Given the description of an element on the screen output the (x, y) to click on. 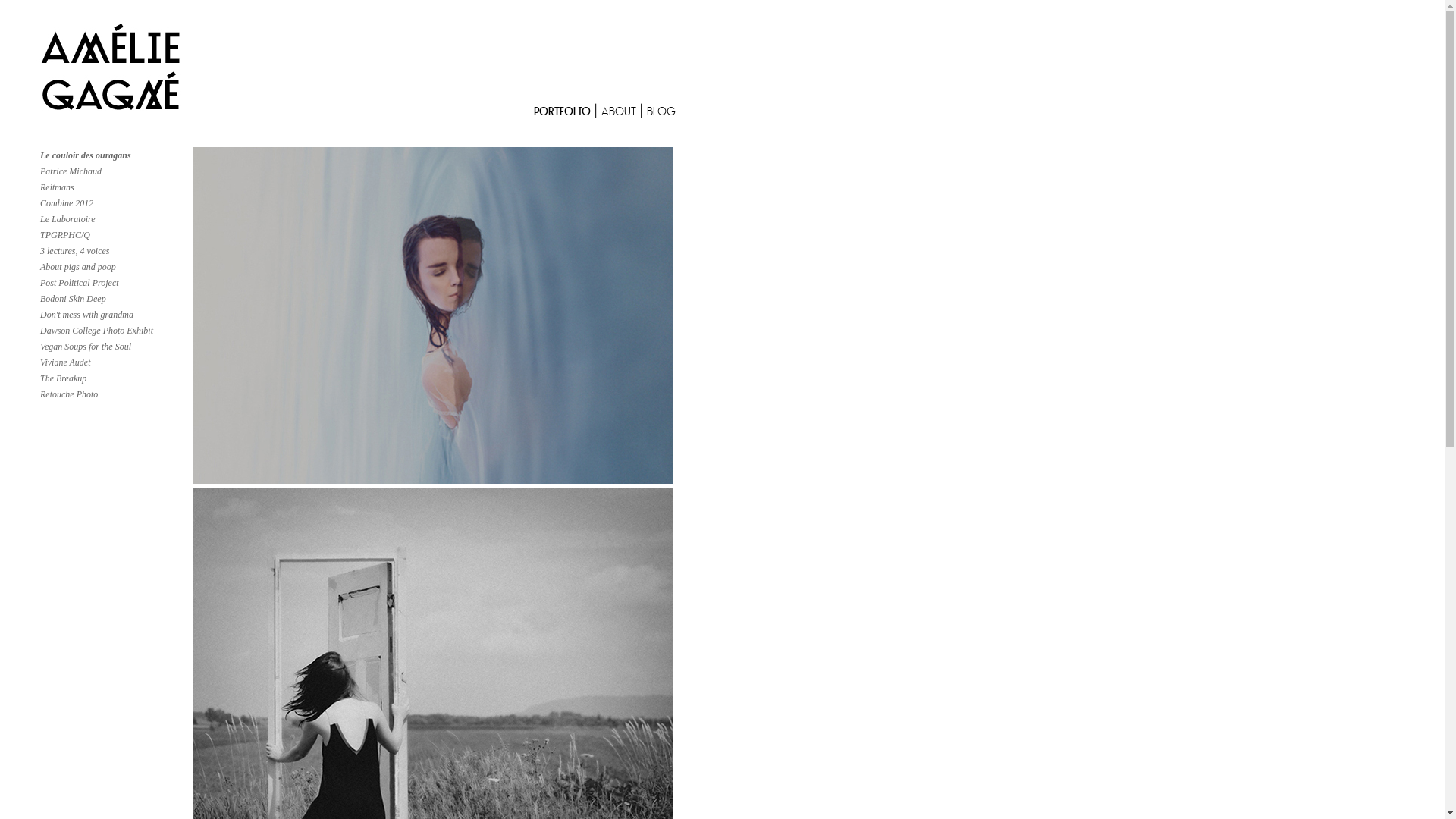
PORTFOLIO Element type: text (563, 112)
Viviane Audet Element type: text (65, 362)
3 lectures, 4 voices Element type: text (74, 250)
Bodoni Skin Deep Element type: text (73, 298)
Vegan Soups for the Soul Element type: text (85, 346)
Dawson College Photo Exhibit Element type: text (96, 330)
Le couloir des ouragans Element type: text (85, 155)
TPGRPHC/Q Element type: text (65, 234)
Patrice Michaud Element type: text (70, 171)
Reitmans Element type: text (57, 187)
BLOG Element type: text (660, 112)
Don't mess with grandma Element type: text (86, 314)
Le Laboratoire Element type: text (67, 218)
The Breakup Element type: text (63, 378)
Post Political Project Element type: text (79, 282)
About pigs and poop Element type: text (78, 266)
Retouche Photo Element type: text (68, 394)
Combine 2012 Element type: text (66, 202)
ABOUT Element type: text (620, 112)
